Given the description of an element on the screen output the (x, y) to click on. 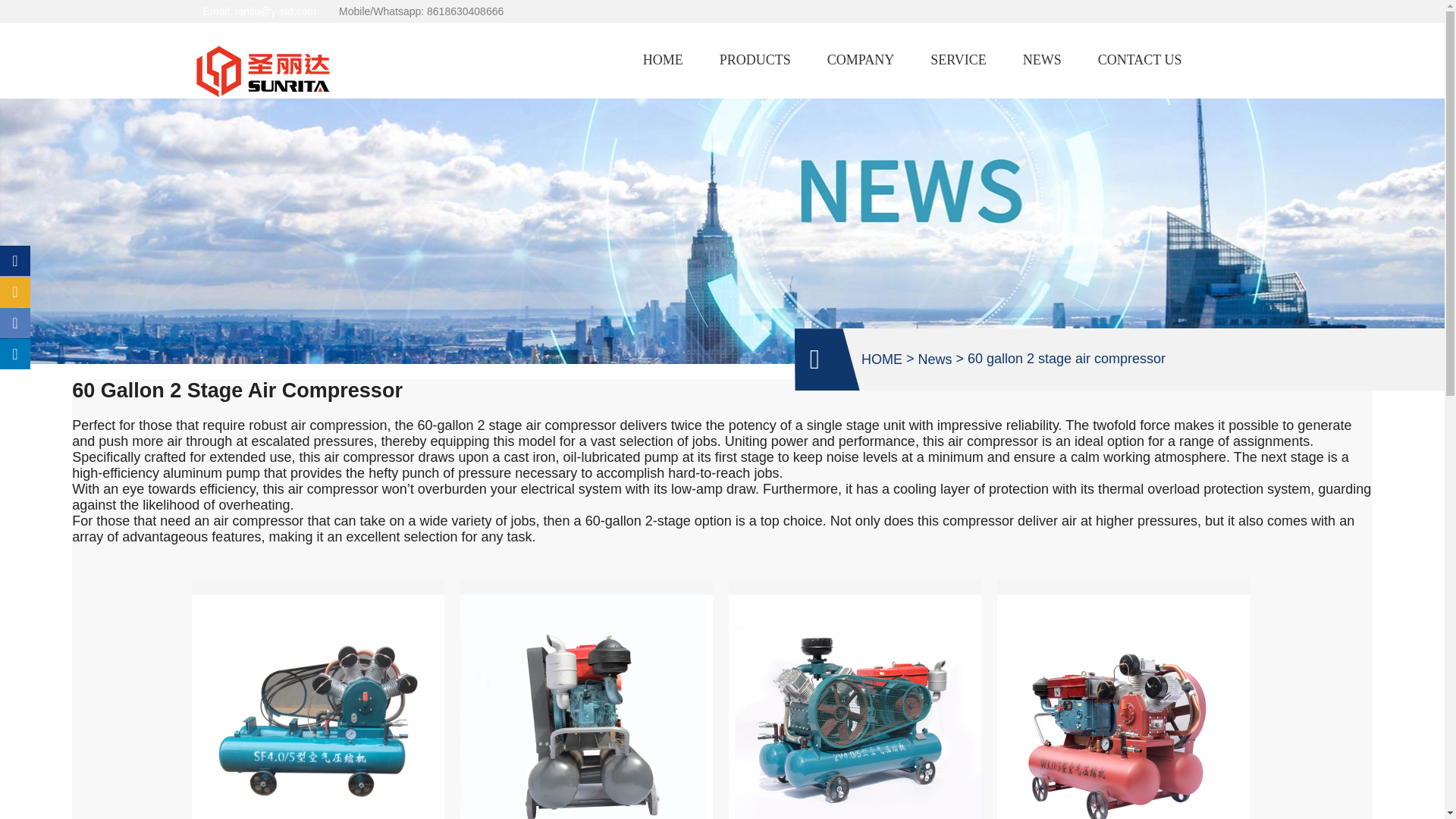
logo (266, 70)
HOME (881, 359)
20kW mining diesel piston air compressor 2V4.0-5 (855, 699)
SERVICE (958, 59)
PRODUCTS (755, 59)
NEWS (1042, 59)
20kW mining diesel piston air compressor W3.2-7 (586, 699)
News (934, 359)
HOME (662, 59)
COMPANY (860, 59)
